Given the description of an element on the screen output the (x, y) to click on. 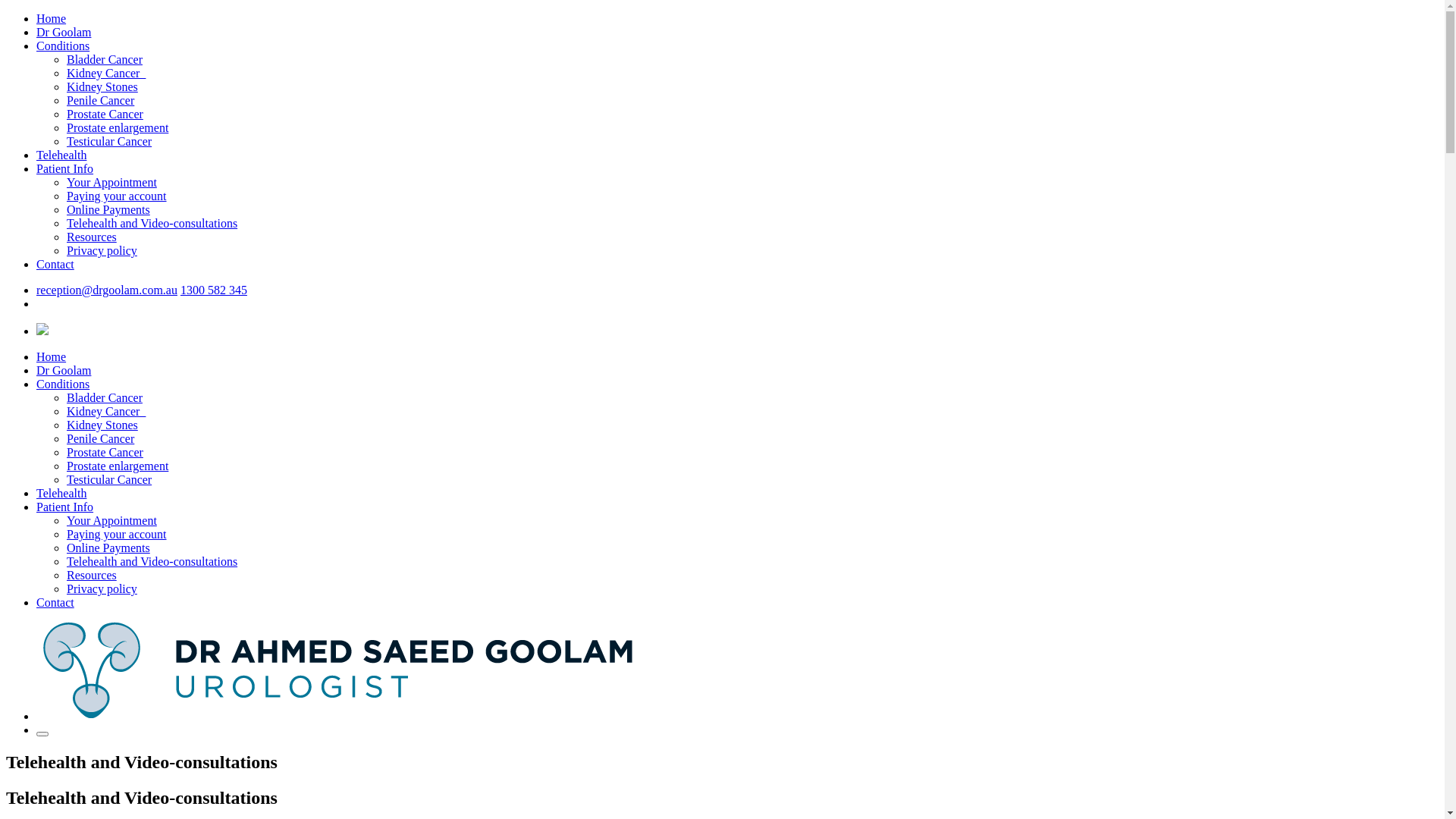
Dr Goolam Element type: text (63, 31)
Prostate enlargement Element type: text (117, 465)
Prostate enlargement Element type: text (117, 127)
Your Appointment Element type: text (111, 181)
Privacy policy Element type: text (101, 250)
Home Element type: text (50, 18)
Telehealth Element type: text (61, 154)
Testicular Cancer Element type: text (108, 479)
Kidney Cancer Element type: text (105, 72)
Patient Info Element type: text (64, 168)
Your Appointment Element type: text (111, 520)
Conditions Element type: text (62, 45)
Penile Cancer Element type: text (100, 100)
Kidney Stones Element type: text (102, 86)
Online Payments Element type: text (108, 547)
Bladder Cancer Element type: text (104, 397)
Online Payments Element type: text (108, 209)
Telehealth and Video-consultations Element type: text (151, 222)
1300 582 345 Element type: text (213, 289)
Dr Goolam Element type: text (63, 370)
Kidney Stones Element type: text (102, 424)
Home Element type: text (50, 356)
Kidney Cancer Element type: text (105, 410)
reception@drgoolam.com.au Element type: text (106, 289)
Testicular Cancer Element type: text (108, 140)
Contact Element type: text (55, 602)
Resources Element type: text (91, 236)
Contact Element type: text (55, 263)
Conditions Element type: text (62, 383)
Bladder Cancer Element type: text (104, 59)
Prostate Cancer Element type: text (104, 451)
Prostate Cancer Element type: text (104, 113)
Paying your account Element type: text (116, 533)
Telehealth Element type: text (61, 492)
Privacy policy Element type: text (101, 588)
Resources Element type: text (91, 574)
Paying your account Element type: text (116, 195)
Telehealth and Video-consultations Element type: text (151, 561)
Penile Cancer Element type: text (100, 438)
Patient Info Element type: text (64, 506)
